Given the description of an element on the screen output the (x, y) to click on. 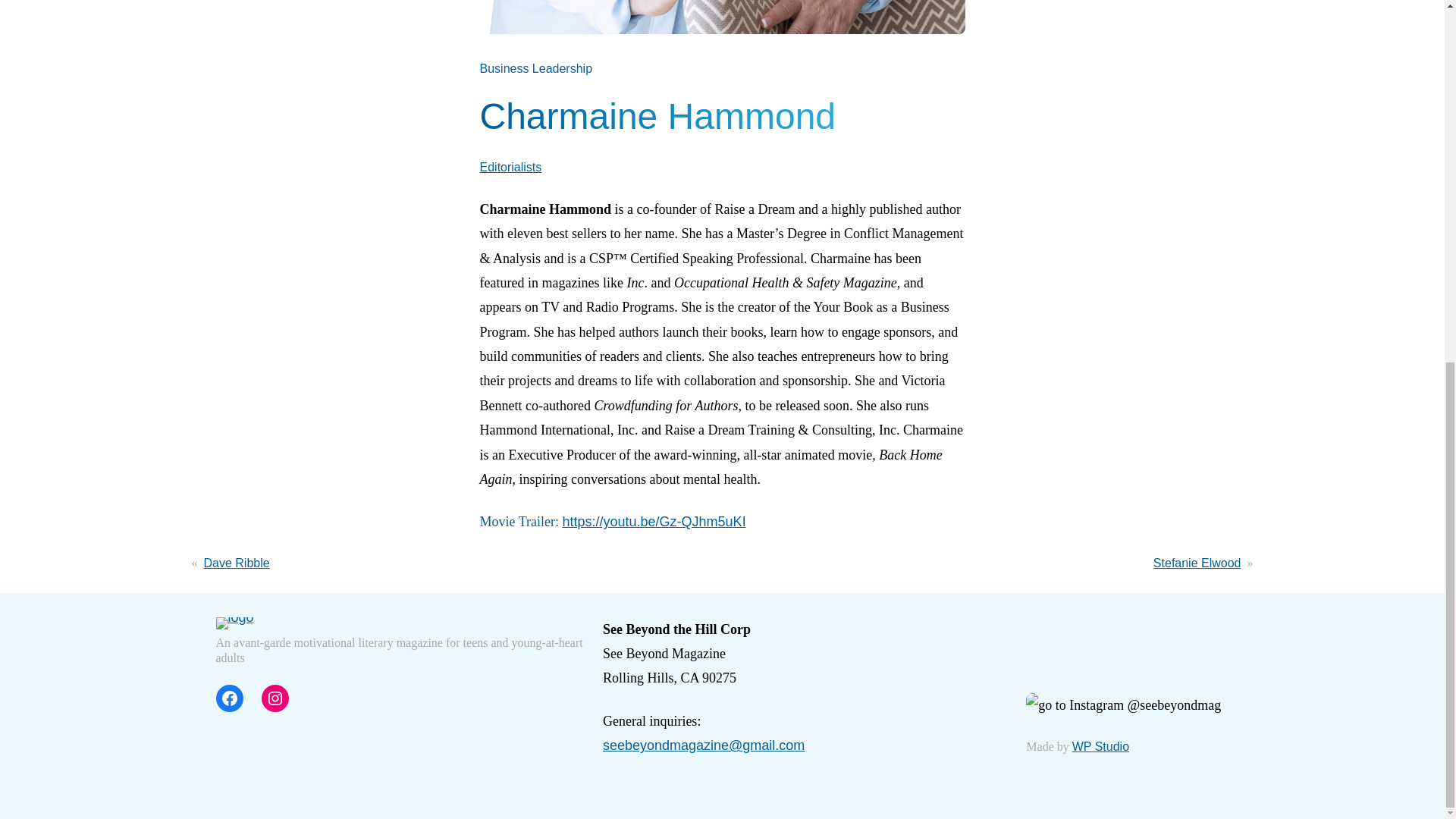
facebook (229, 697)
Dave Ribble (236, 562)
Stefanie Elwood (1197, 562)
Editorialists (510, 166)
Business Leadership (535, 68)
Instagram (274, 697)
WP Studio (1100, 746)
